Given the description of an element on the screen output the (x, y) to click on. 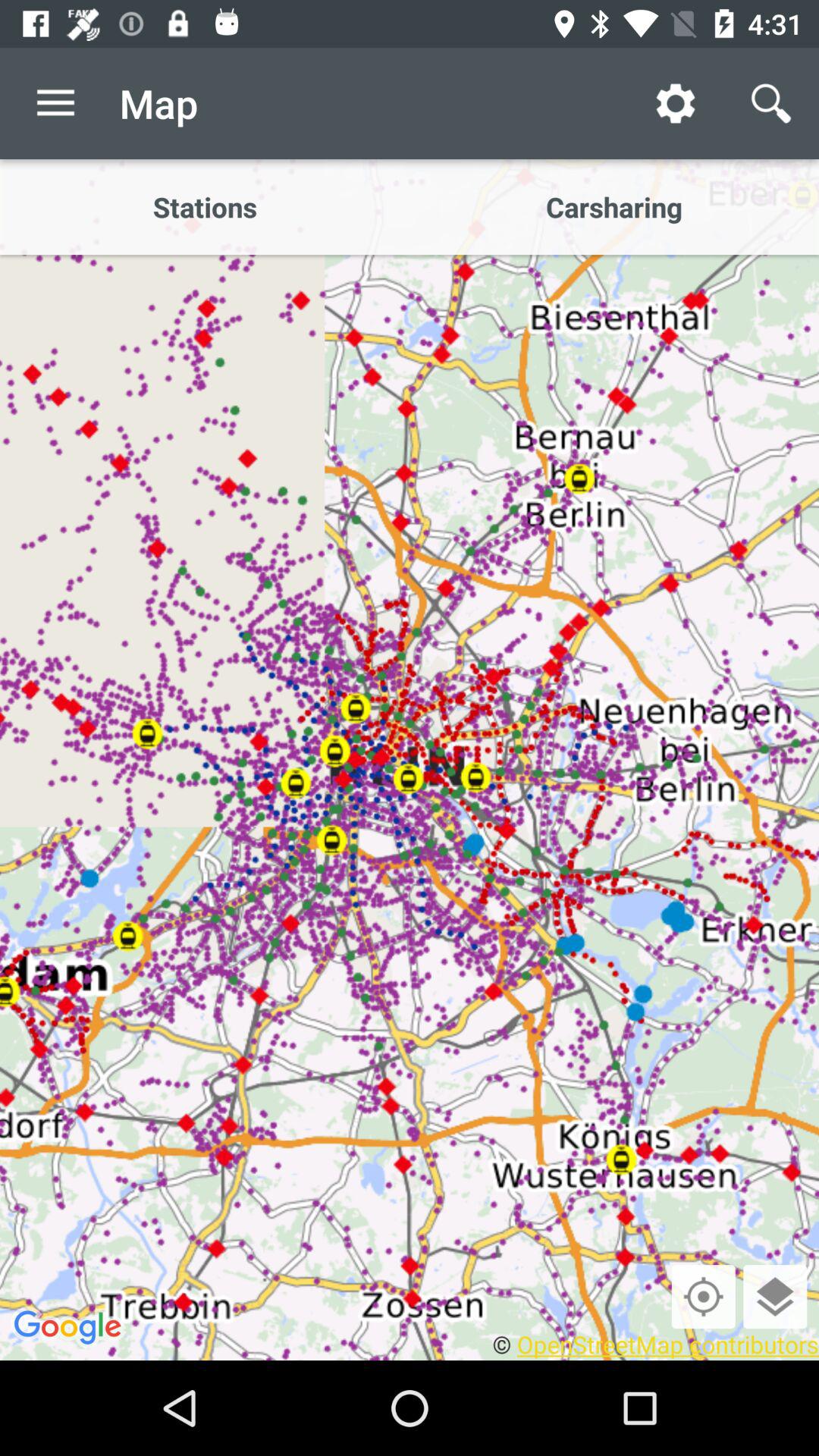
toggle layers (775, 1296)
